Given the description of an element on the screen output the (x, y) to click on. 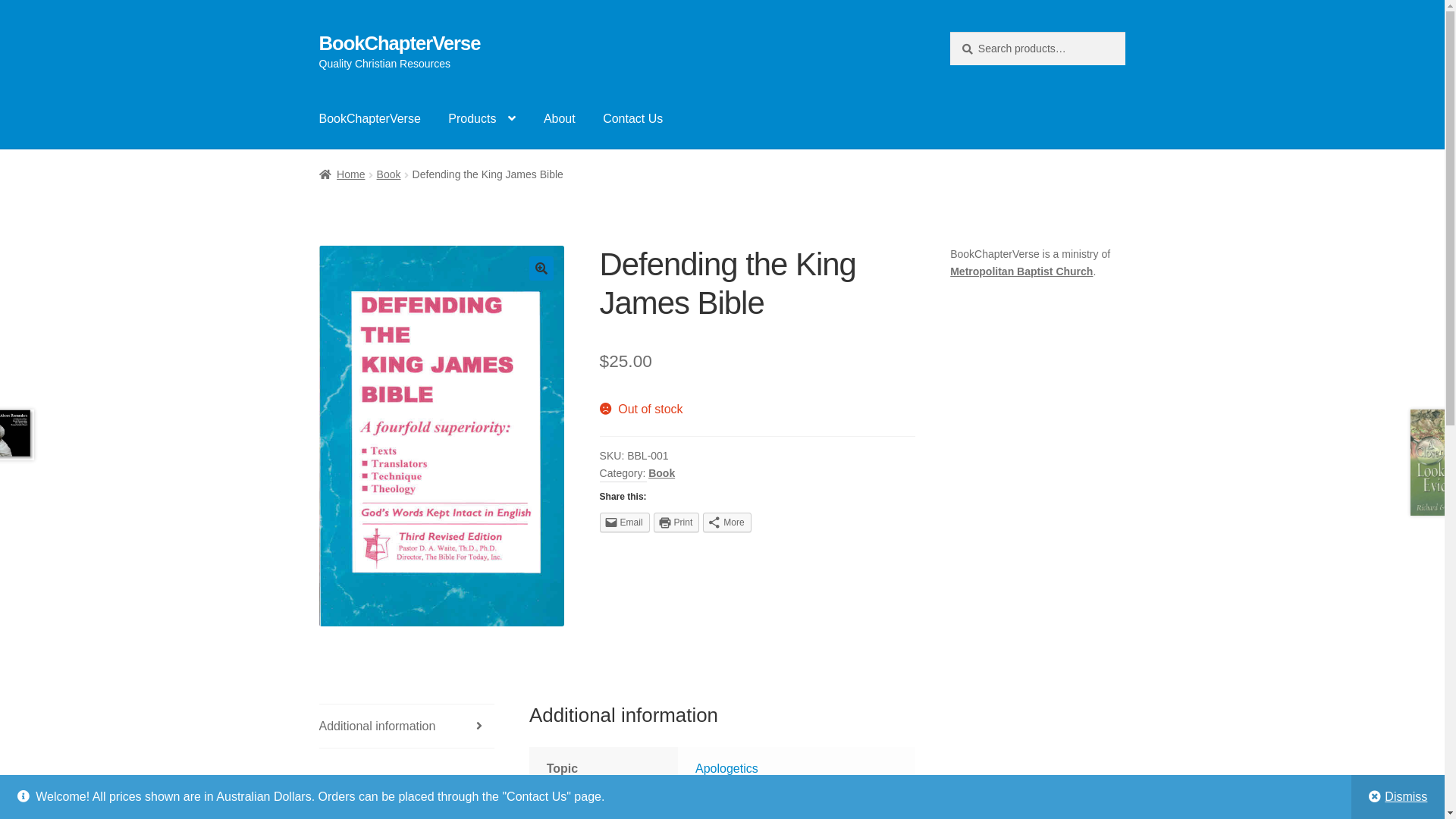
Book Element type: text (661, 473)
More Element type: text (726, 522)
About Element type: text (559, 118)
Search Element type: text (949, 31)
Contact Us Element type: text (632, 118)
Book Element type: text (388, 174)
Additional information Element type: text (406, 726)
Print Element type: text (676, 522)
Skip to navigation Element type: text (318, 31)
BookChapterVerse Element type: text (399, 42)
Metropolitan Baptist Church Element type: text (1021, 271)
Defending the King James Bible 1 Element type: hover (441, 435)
BookChapterVerse Element type: text (370, 118)
Home Element type: text (342, 174)
Apologetics Element type: text (726, 768)
Products Element type: text (481, 118)
Email Element type: text (624, 522)
